Given the description of an element on the screen output the (x, y) to click on. 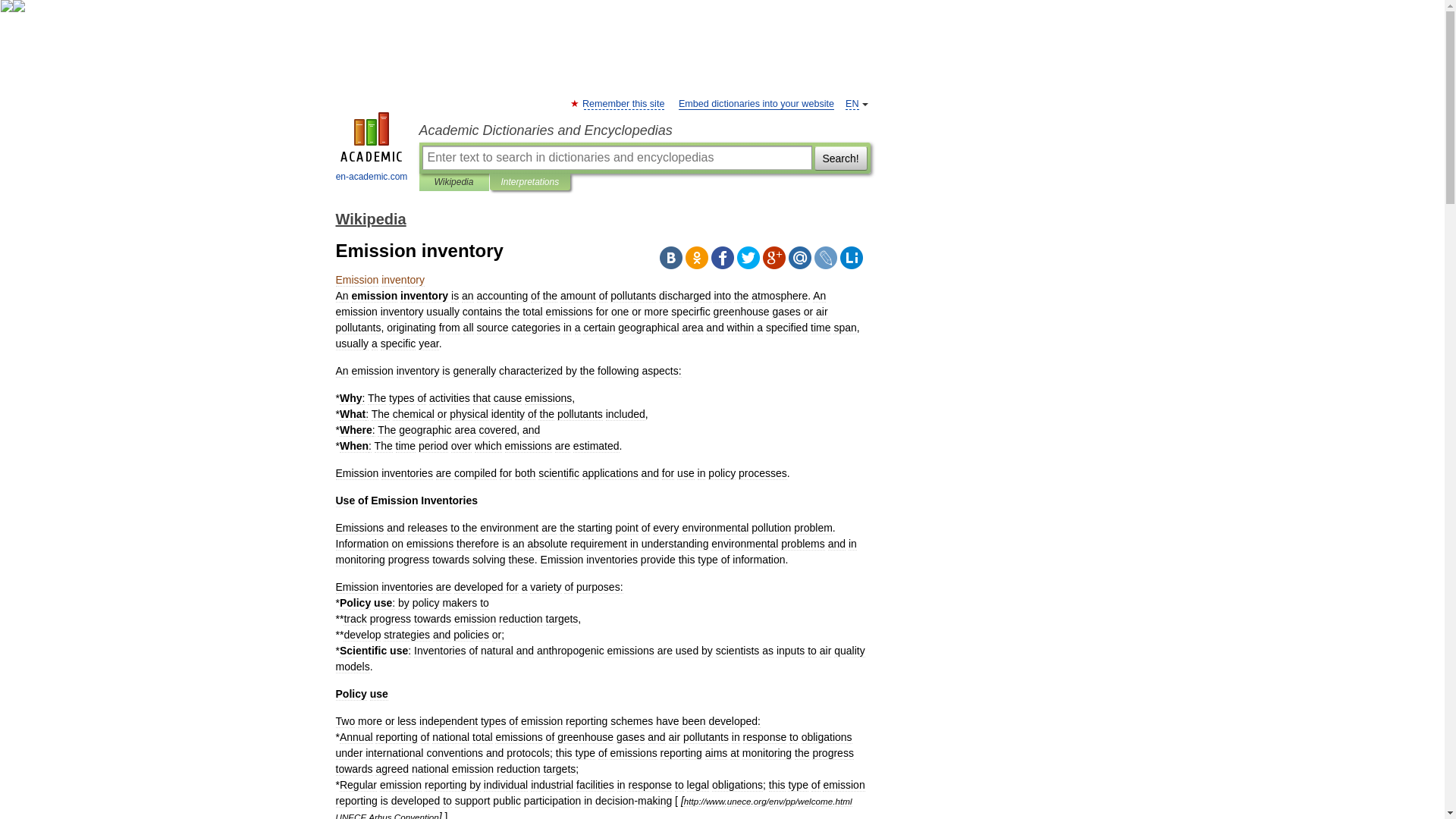
EN (852, 103)
Enter text to search in dictionaries and encyclopedias (616, 157)
Remember this site (623, 103)
Interpretations (529, 181)
Search! (840, 157)
Academic Dictionaries and Encyclopedias (644, 130)
Wikipedia (453, 181)
Wikipedia (370, 218)
Embed dictionaries into your website (756, 103)
en-academic.com (371, 148)
